Given the description of an element on the screen output the (x, y) to click on. 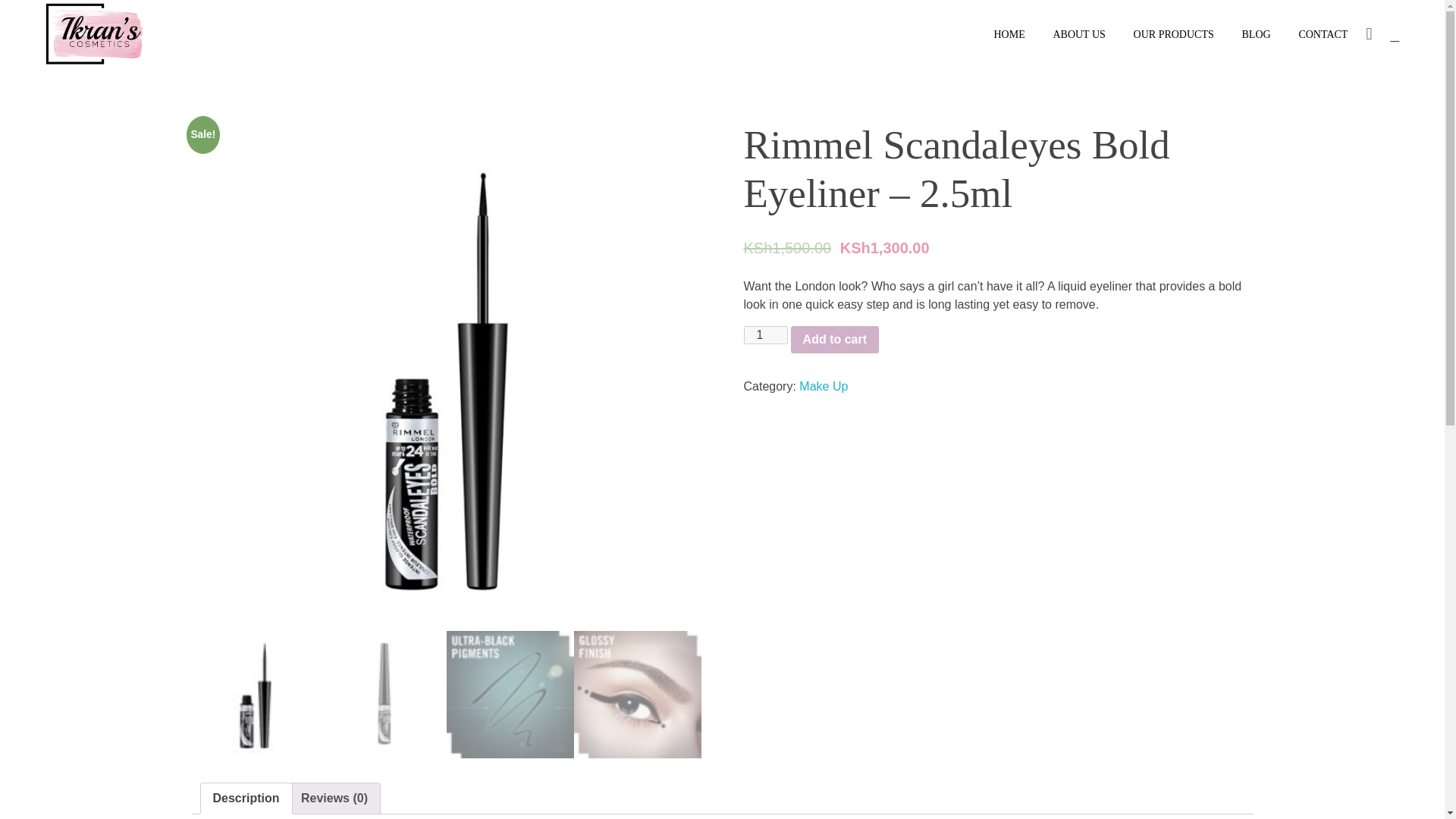
ABOUT US (1079, 27)
OUR PRODUCTS (1173, 28)
Add to cart (834, 338)
Make Up (823, 386)
Qty (764, 334)
HOME (1015, 25)
Description (245, 798)
1 (764, 334)
CONTACT (1316, 33)
